Given the description of an element on the screen output the (x, y) to click on. 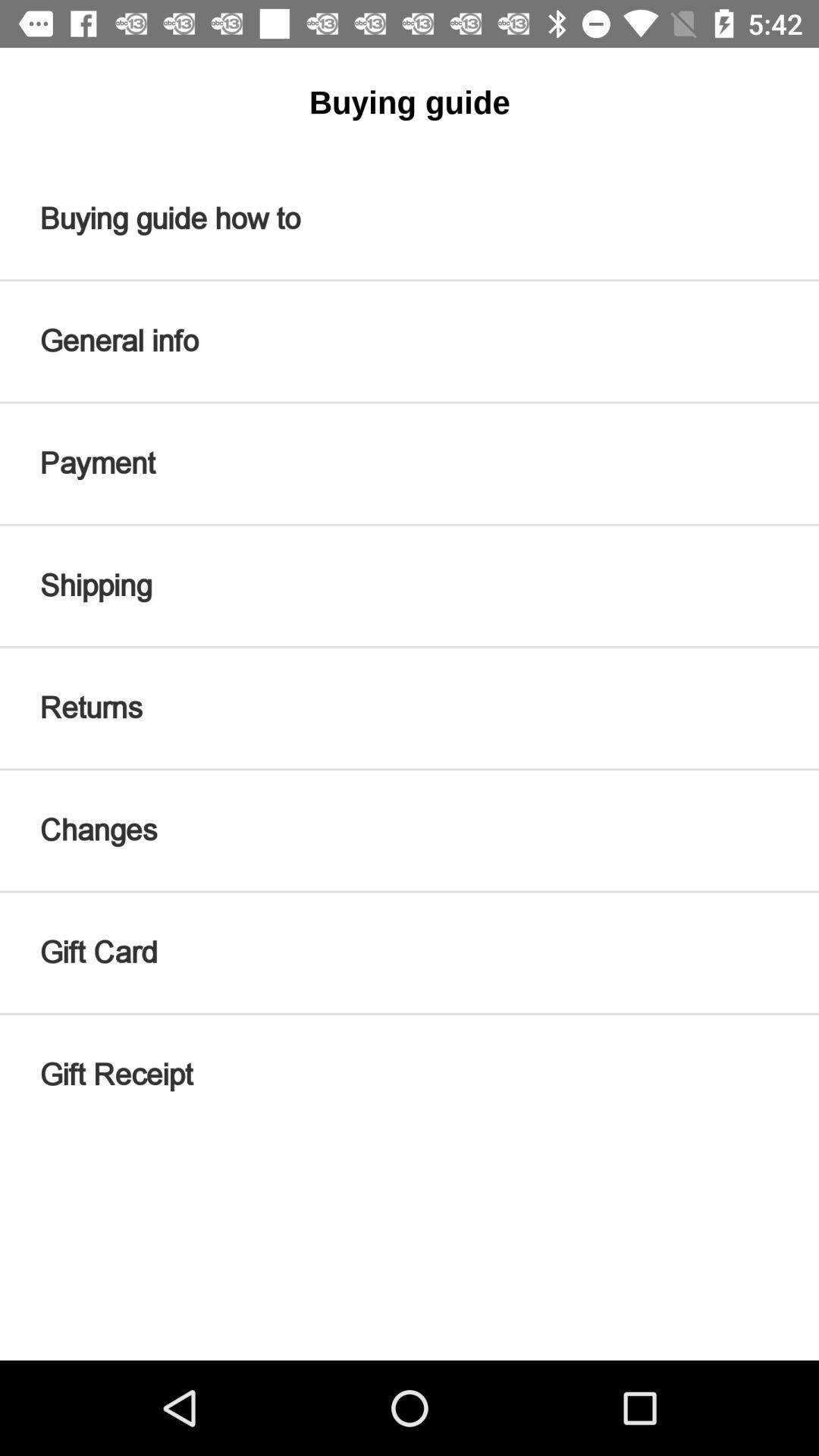
turn on the changes item (409, 830)
